Given the description of an element on the screen output the (x, y) to click on. 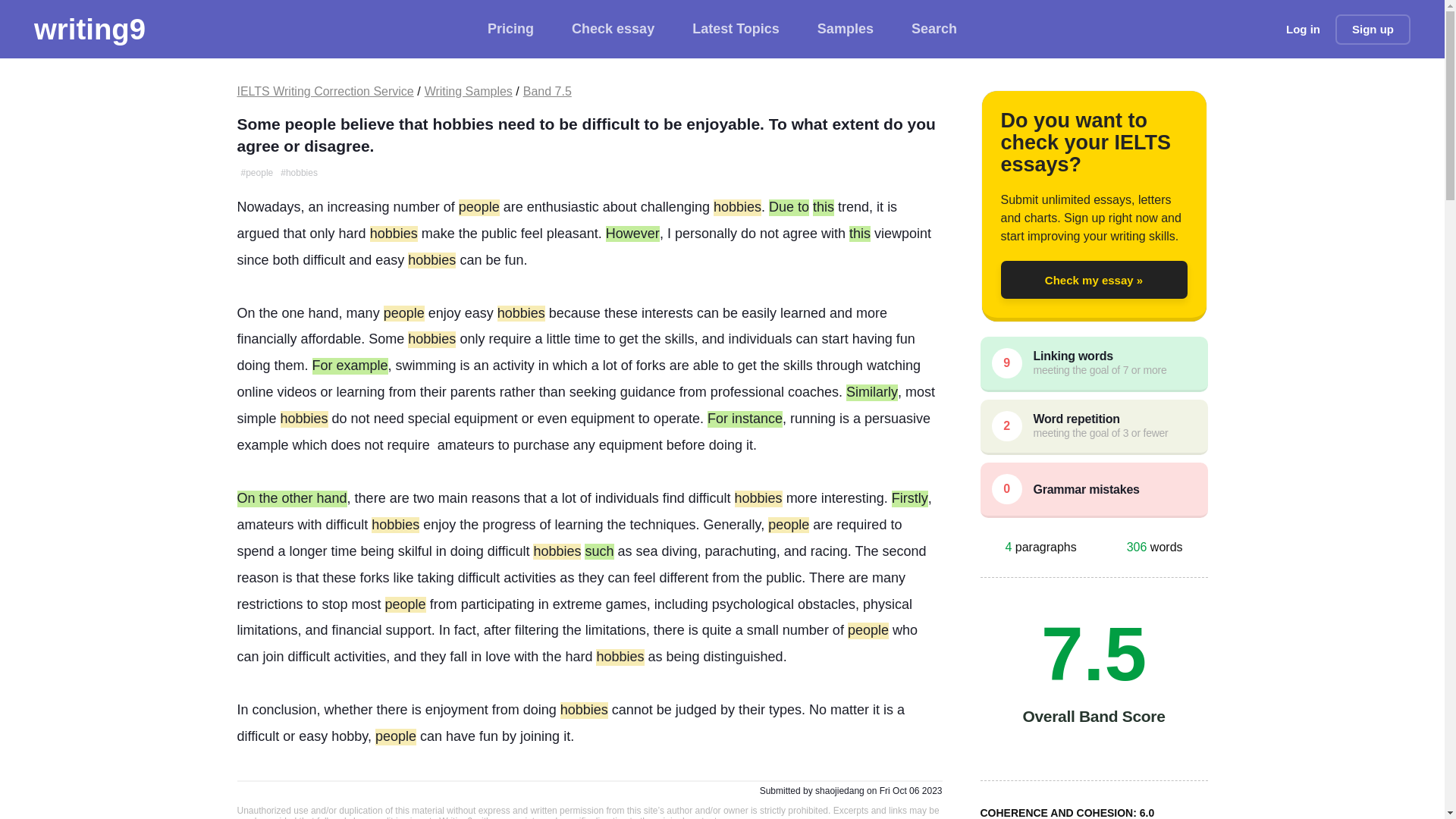
Band 7.5 (547, 91)
Writing Samples (468, 91)
writing9 (89, 28)
Sign up (1372, 28)
IELTS Essay Checker (89, 28)
Check essay (612, 29)
IELTS Writing Correction Service (324, 91)
Pricing (510, 29)
Samples (844, 29)
Latest Topics (734, 29)
Log in (1303, 28)
Log in (1303, 29)
